Given the description of an element on the screen output the (x, y) to click on. 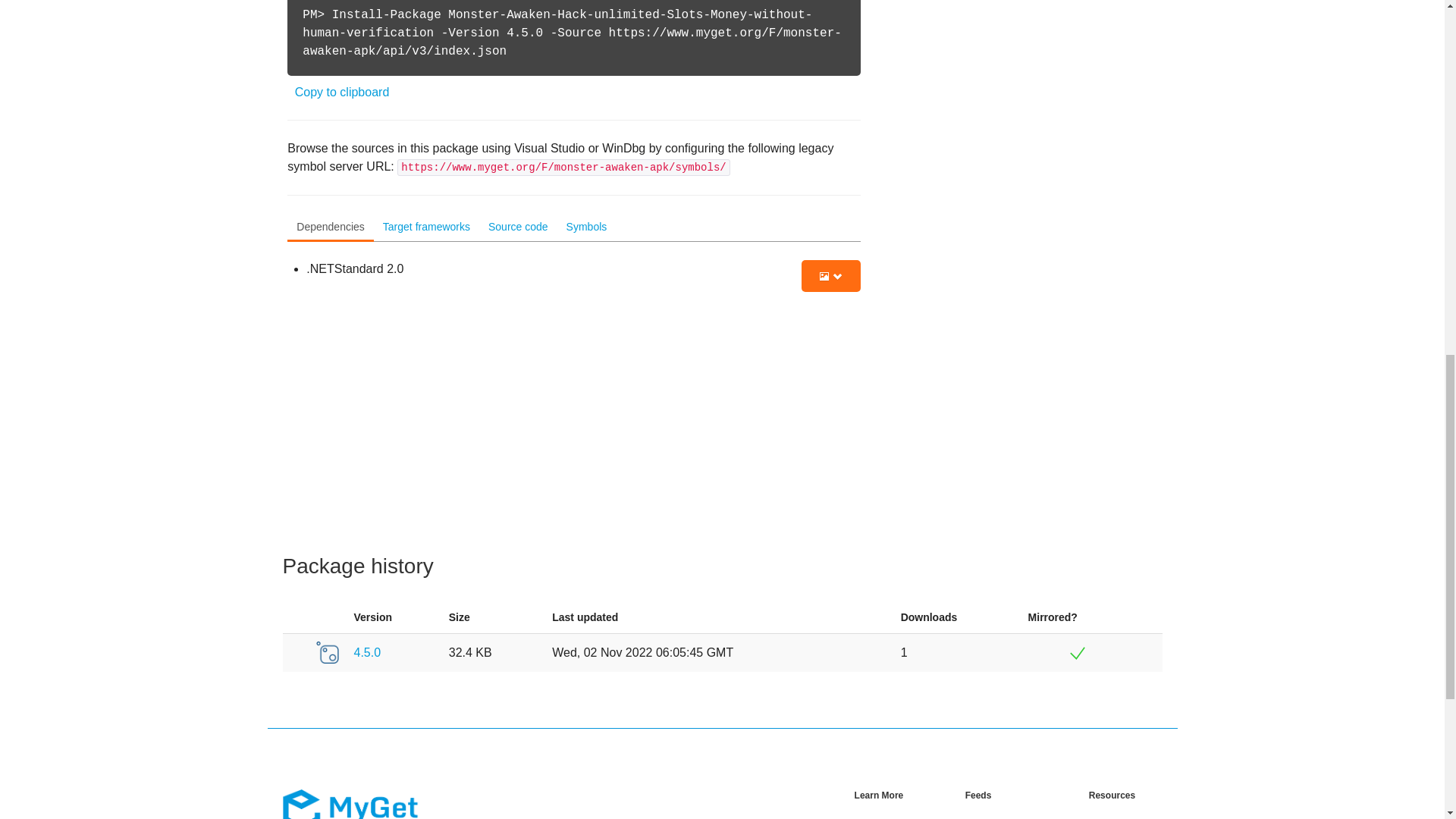
Target frameworks (426, 227)
Dependencies (330, 227)
Symbols (586, 227)
Copy to clipboard (342, 91)
Show dependency tree (831, 275)
Source code (518, 227)
This is the latest version of the package. (294, 652)
Download package (326, 651)
Copy to clipboard (342, 91)
